Given the description of an element on the screen output the (x, y) to click on. 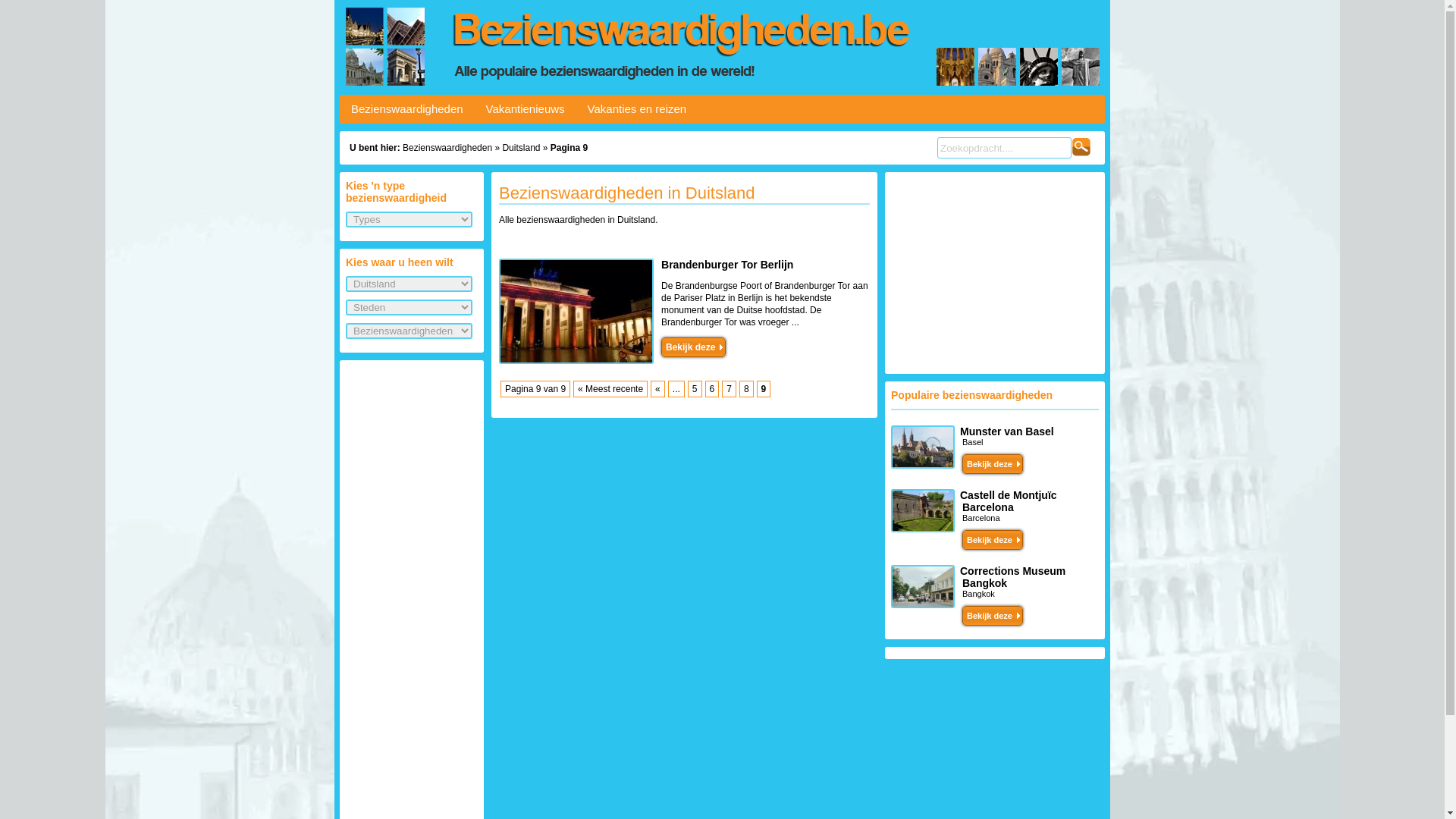
8 Element type: text (746, 388)
Bekijk deze Element type: text (992, 539)
Bekijk deze Element type: text (992, 615)
Bekijk deze Element type: text (992, 463)
Bezienswaardigheden.be Element type: text (721, 47)
Basel Element type: text (972, 441)
7 Element type: text (728, 388)
5 Element type: text (694, 388)
6 Element type: text (712, 388)
Bekijk deze Element type: text (693, 347)
Barcelona Element type: text (981, 517)
Advertisement Element type: hover (994, 272)
Vakanties en reizen Element type: text (637, 108)
Duitsland Element type: text (520, 147)
Bezienswaardigheden Element type: text (406, 108)
Bangkok Element type: text (978, 593)
Bezienswaardigheden Element type: text (447, 147)
Vakantienieuws Element type: text (525, 108)
Corrections Museum Bangkok Element type: text (1012, 576)
Munster van Basel Element type: text (1007, 431)
Brandenburger Tor Berlijn Element type: text (727, 264)
